Given the description of an element on the screen output the (x, y) to click on. 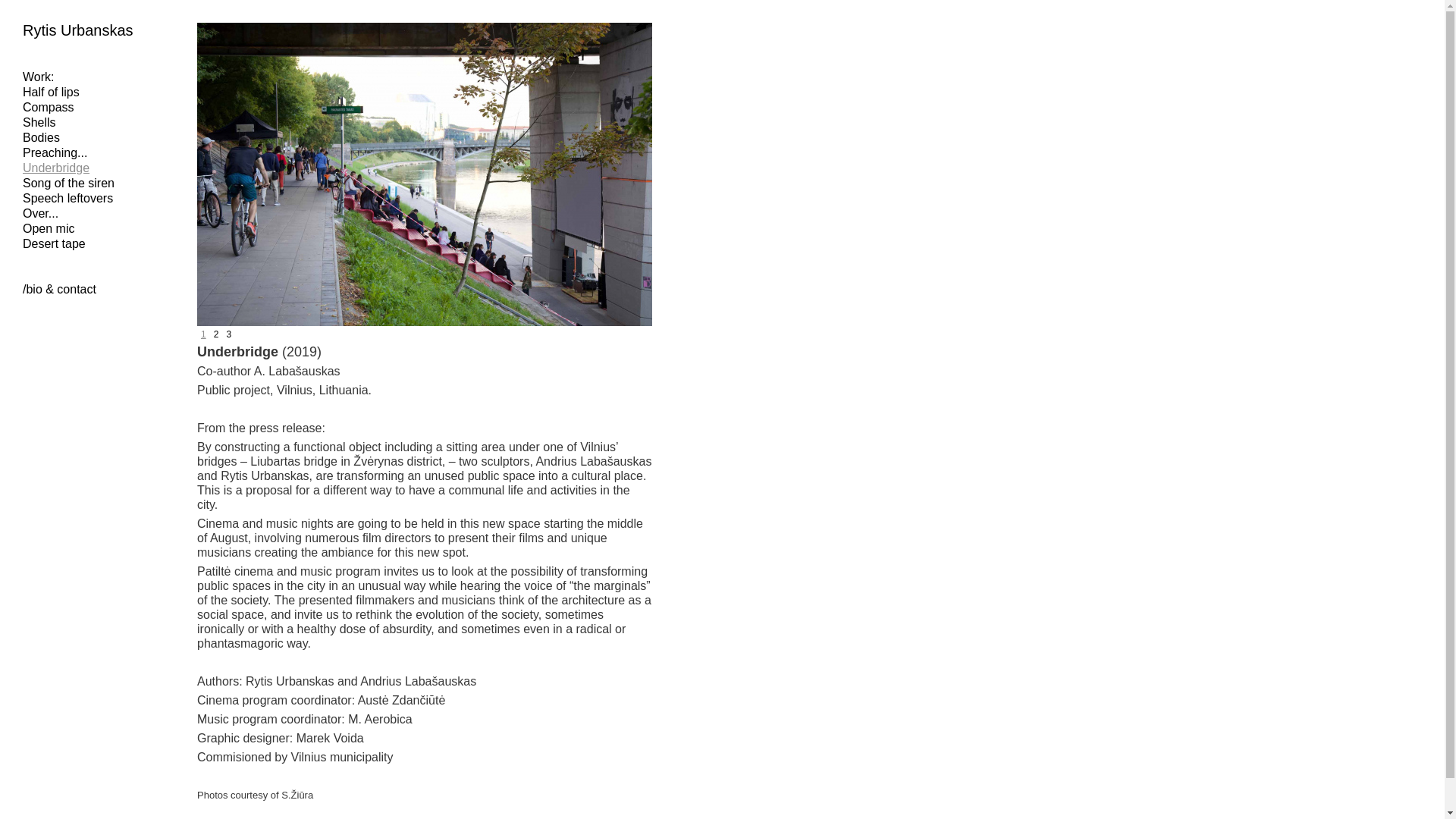
Bodies (41, 137)
Shells (39, 122)
Half of lips (51, 91)
Over... (40, 213)
1 (202, 335)
2 (215, 335)
Work: (38, 76)
Desert tape (54, 243)
Preaching... (55, 152)
3 (228, 335)
